Given the description of an element on the screen output the (x, y) to click on. 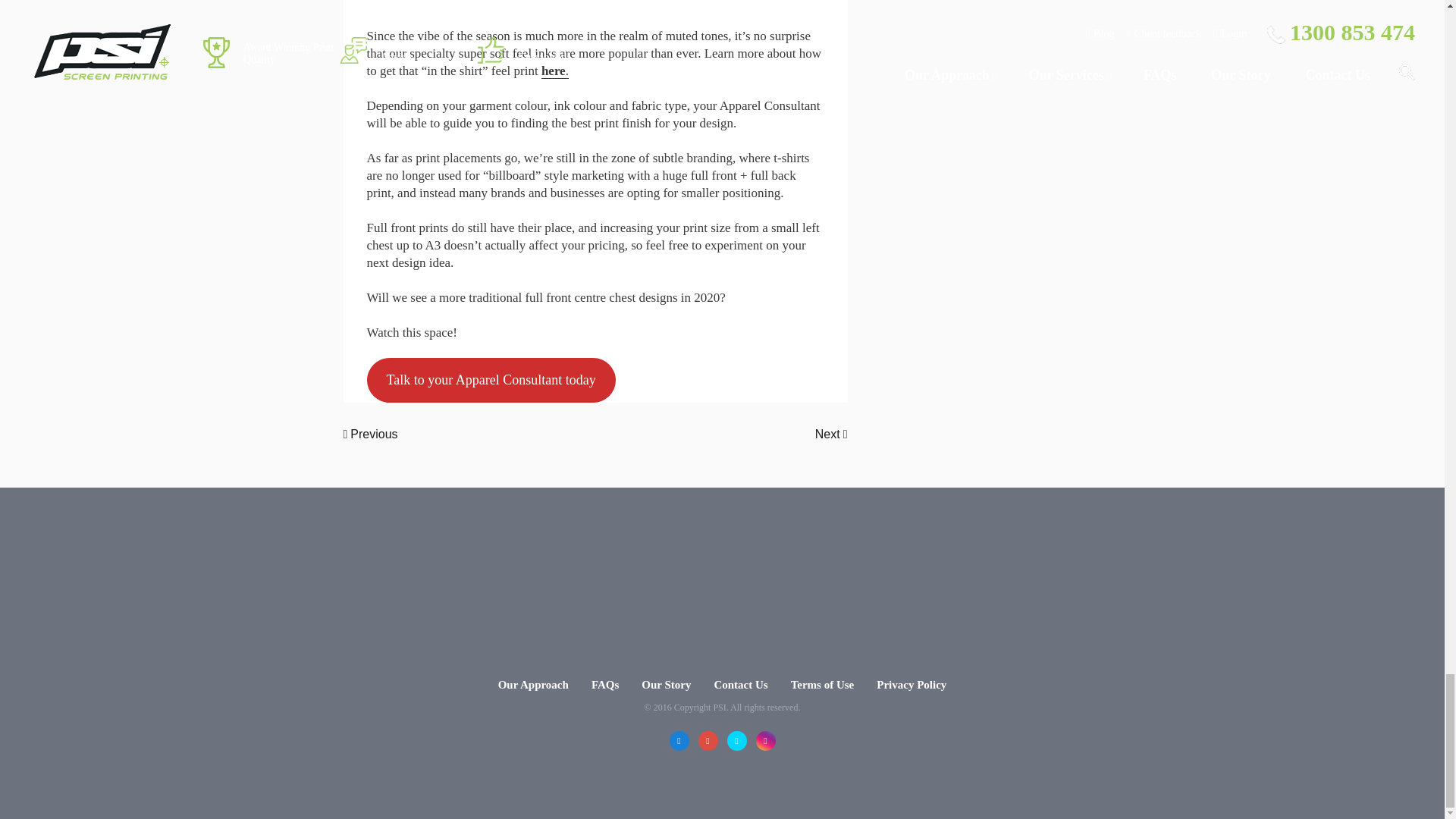
Talk to your Apparel Consultant today (490, 380)
here (553, 70)
